Given the description of an element on the screen output the (x, y) to click on. 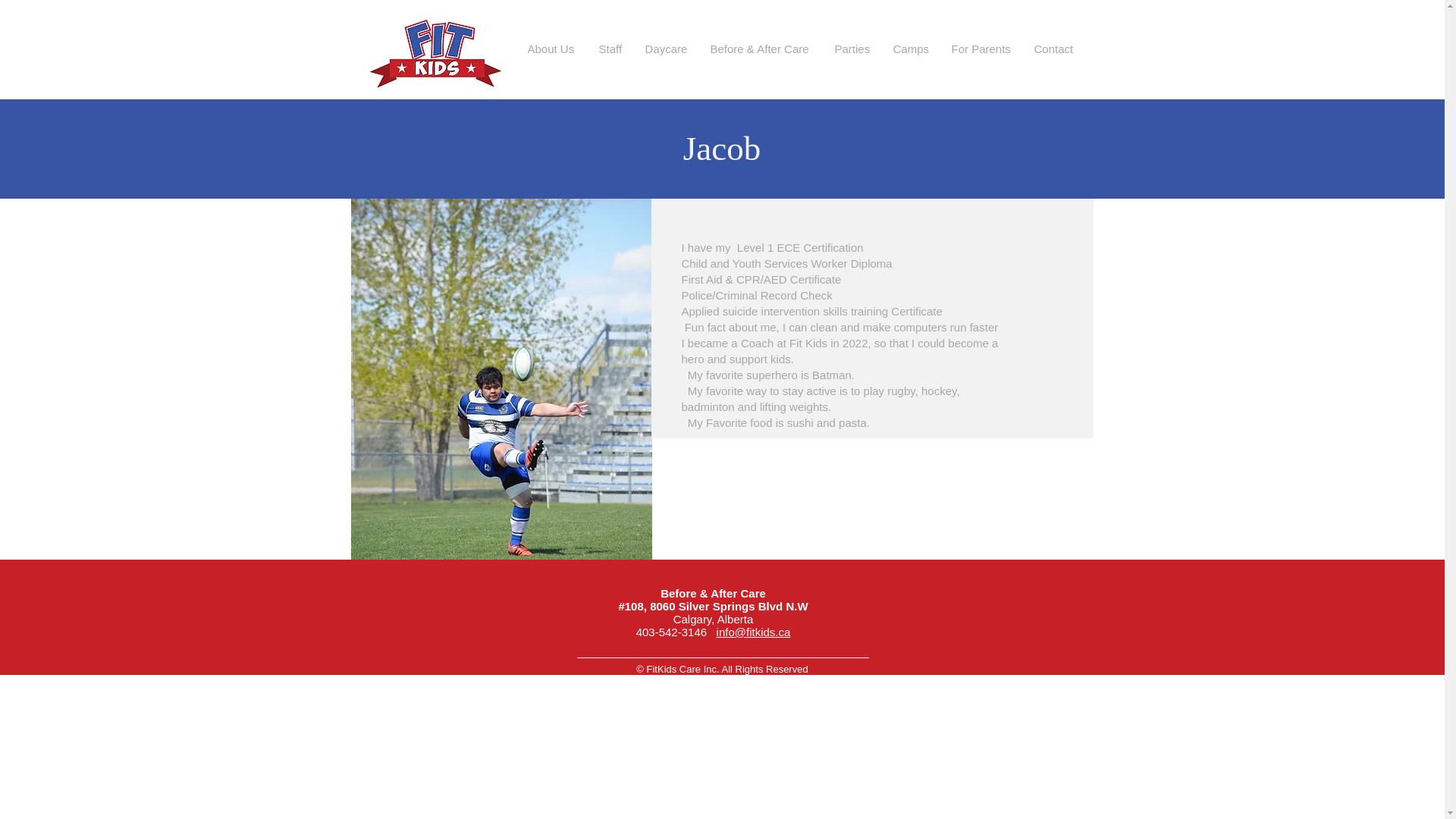
Camps (909, 48)
For Parents (981, 48)
About Us (550, 48)
Parties (853, 48)
Contact (1053, 48)
Daycare (665, 48)
